Given the description of an element on the screen output the (x, y) to click on. 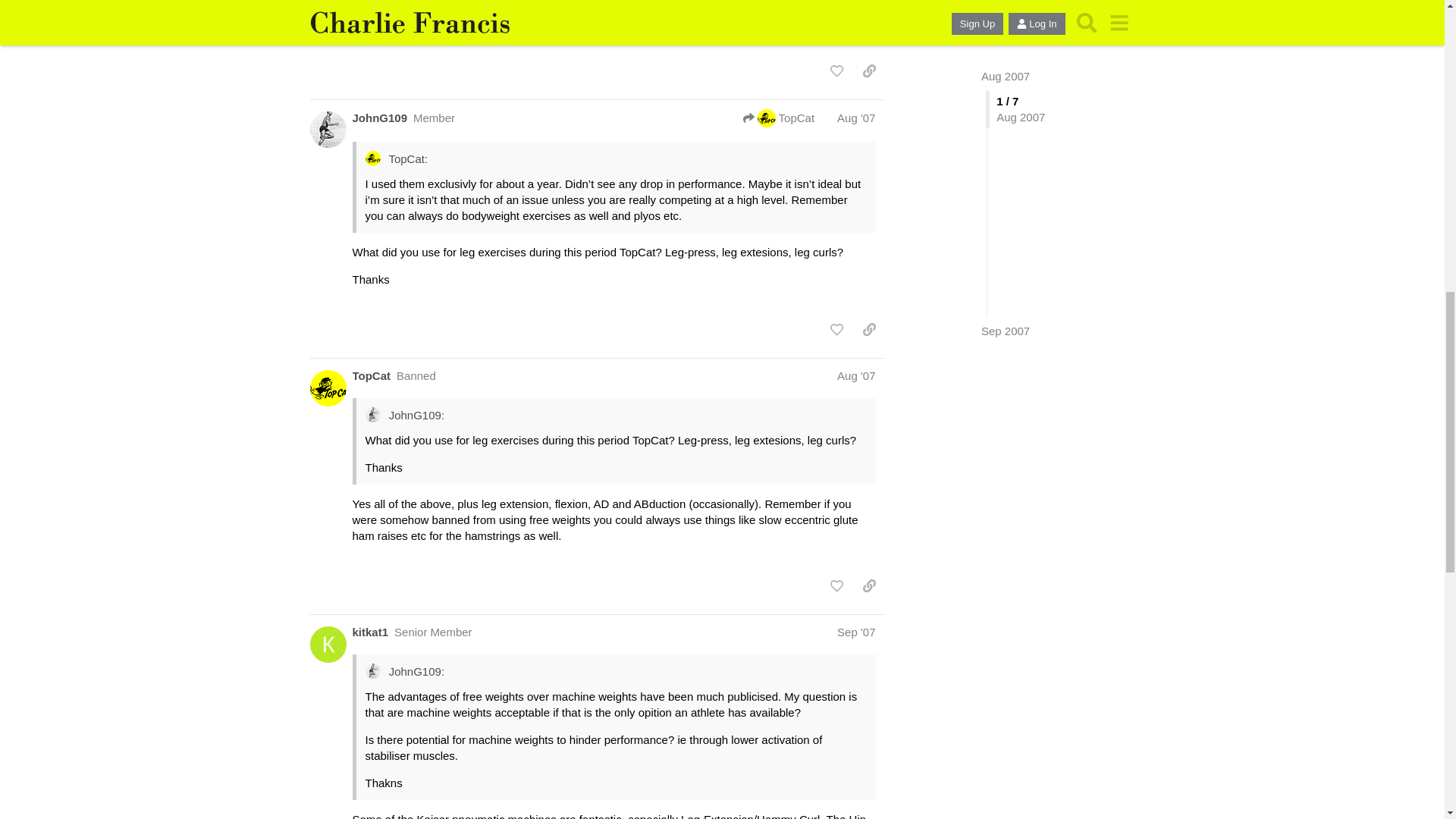
TopCat (777, 117)
JohnG109 (379, 117)
